Given the description of an element on the screen output the (x, y) to click on. 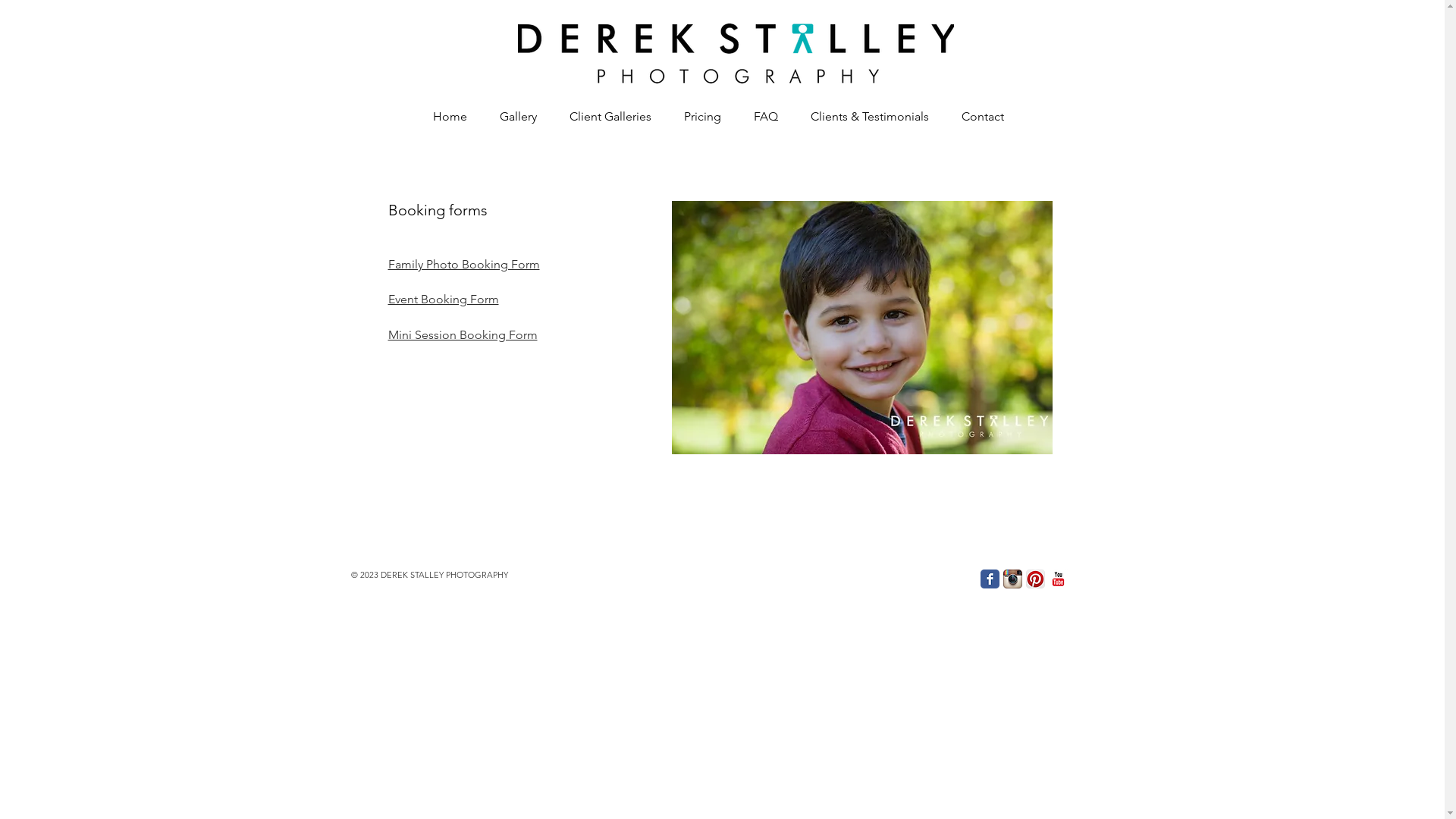
Event Booking Form Element type: text (443, 298)
Client Galleries Element type: text (604, 116)
Family Photo Booking Form Element type: text (463, 264)
Pricing Element type: text (697, 116)
Home Element type: text (444, 116)
Gallery Element type: text (512, 116)
Contact Element type: text (977, 116)
Mini Session Booking Form Element type: text (462, 334)
FAQ Element type: text (760, 116)
Clients & Testimonials Element type: text (863, 116)
